Given the description of an element on the screen output the (x, y) to click on. 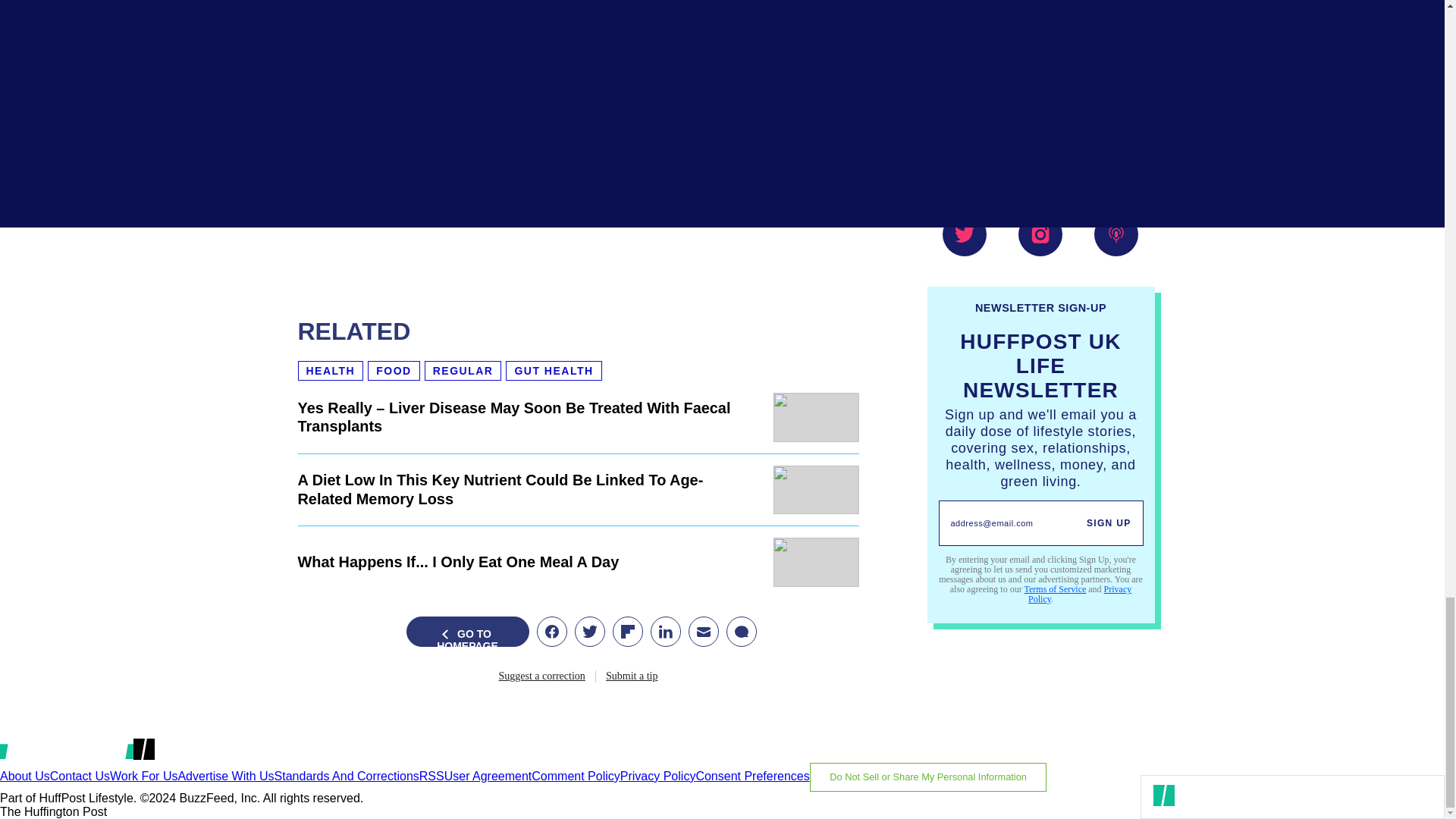
SIGN UP (1108, 523)
